Given the description of an element on the screen output the (x, y) to click on. 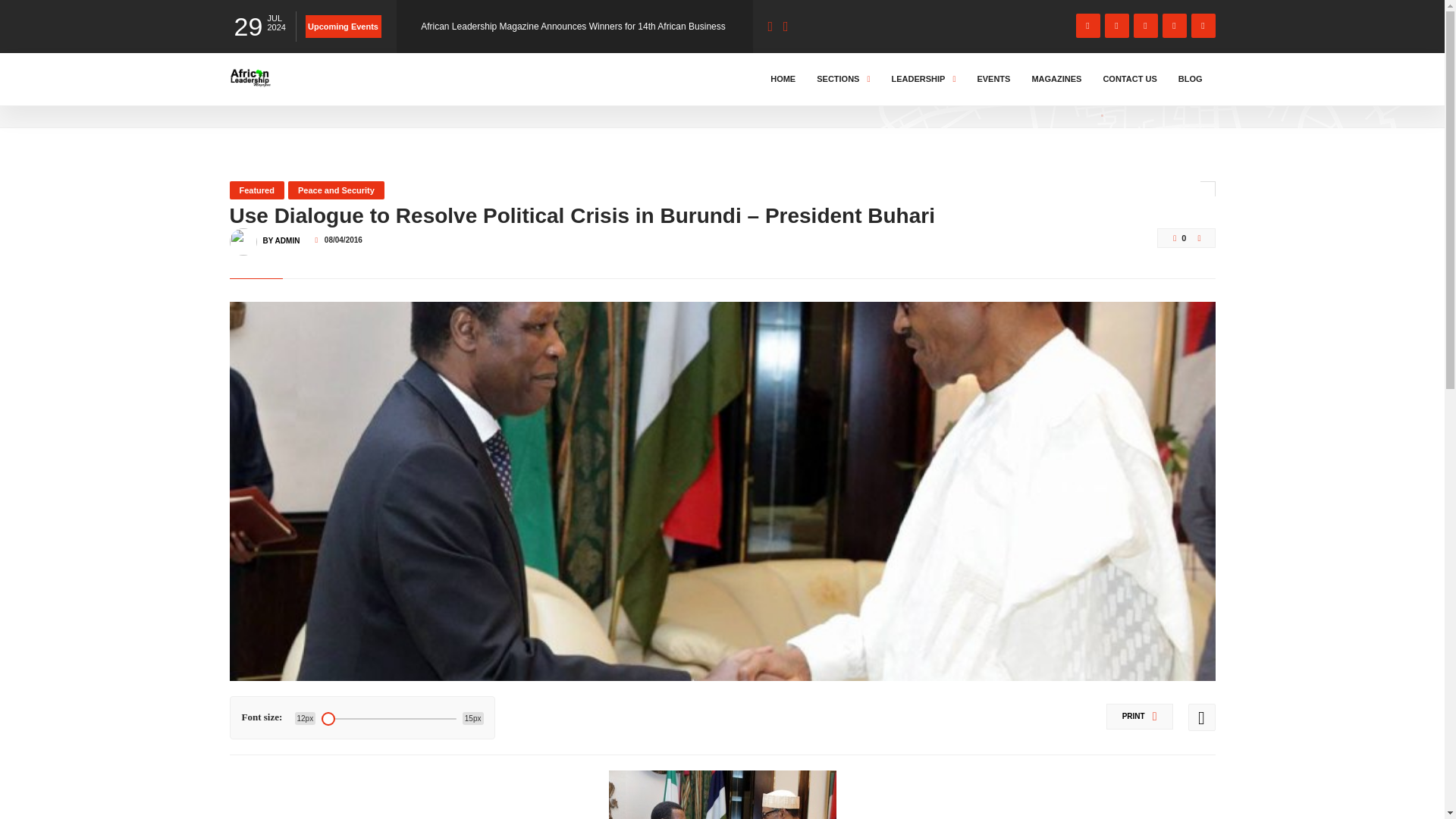
EVENTS (992, 79)
Peace and Security (336, 189)
CONTACT US (1129, 79)
HOME (246, 92)
LEADERSHIP (922, 79)
BY ADMIN (280, 233)
BLOG (1190, 79)
SECTIONS (842, 79)
Scroll Down To Discover (1154, 88)
HOME (782, 79)
MAGAZINES (1056, 79)
BLOG (293, 92)
Featured (255, 189)
